Given the description of an element on the screen output the (x, y) to click on. 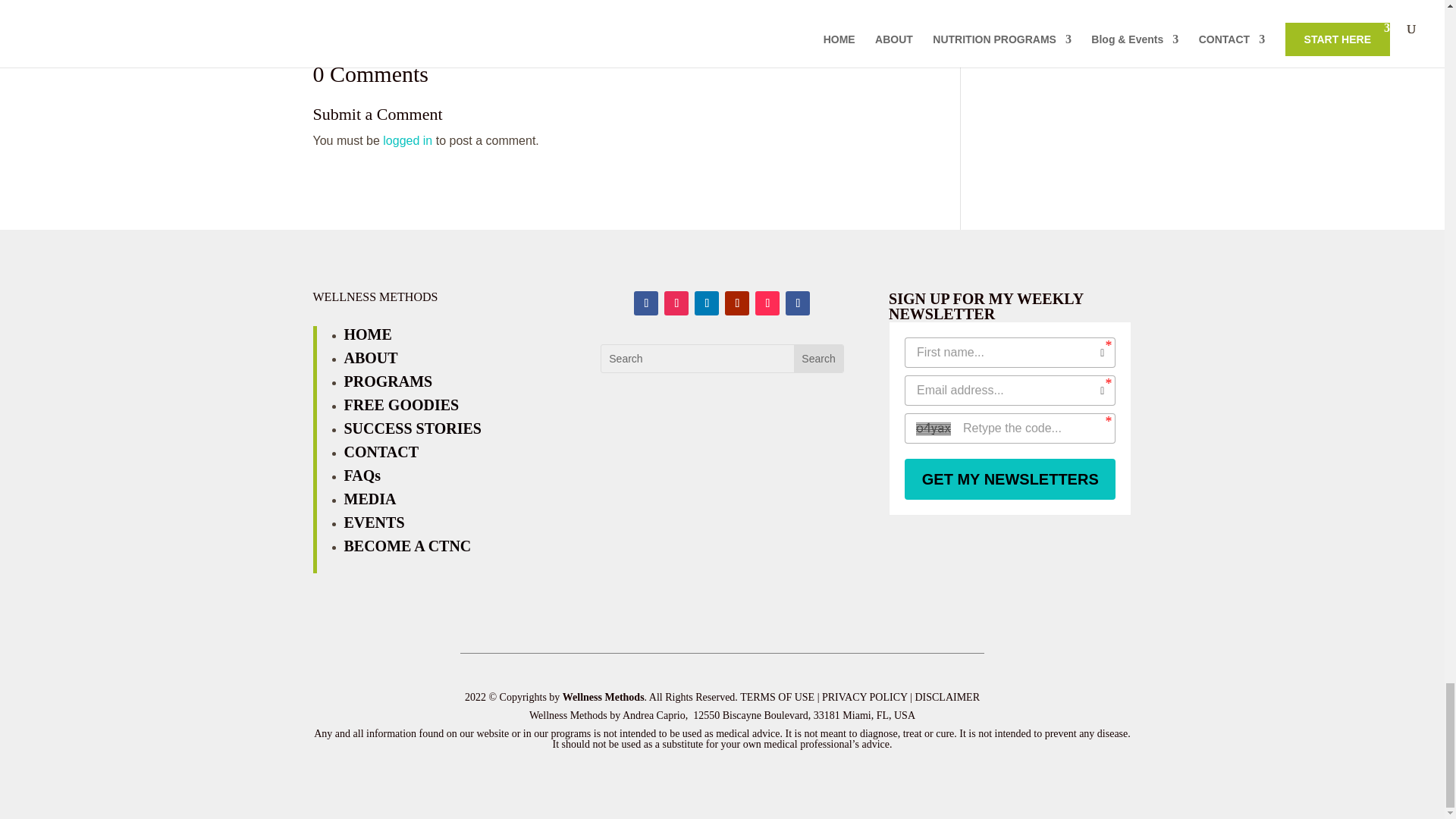
Search (818, 358)
Follow on TikTok (766, 303)
Search (818, 358)
Follow on Facebook (645, 303)
Follow on Instagram (675, 303)
Follow on LinkedIn (706, 303)
Follow on Facebook (797, 303)
Follow on Youtube (737, 303)
